Given the description of an element on the screen output the (x, y) to click on. 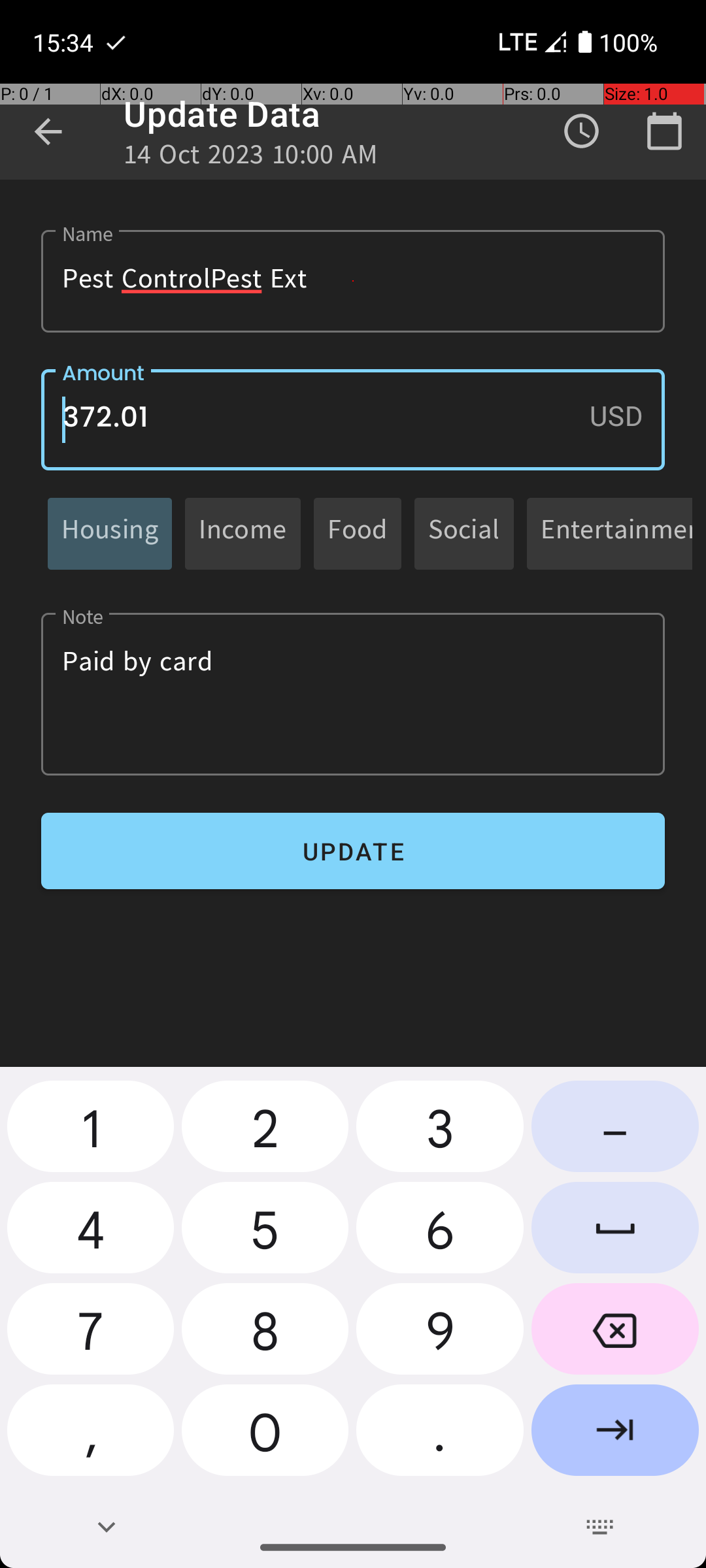
14 Oct 2023 10:00 AM Element type: android.widget.TextView (250, 157)
Pest ControlPest Ext Element type: android.widget.EditText (352, 280)
372.01 Element type: android.widget.EditText (352, 419)
